Given the description of an element on the screen output the (x, y) to click on. 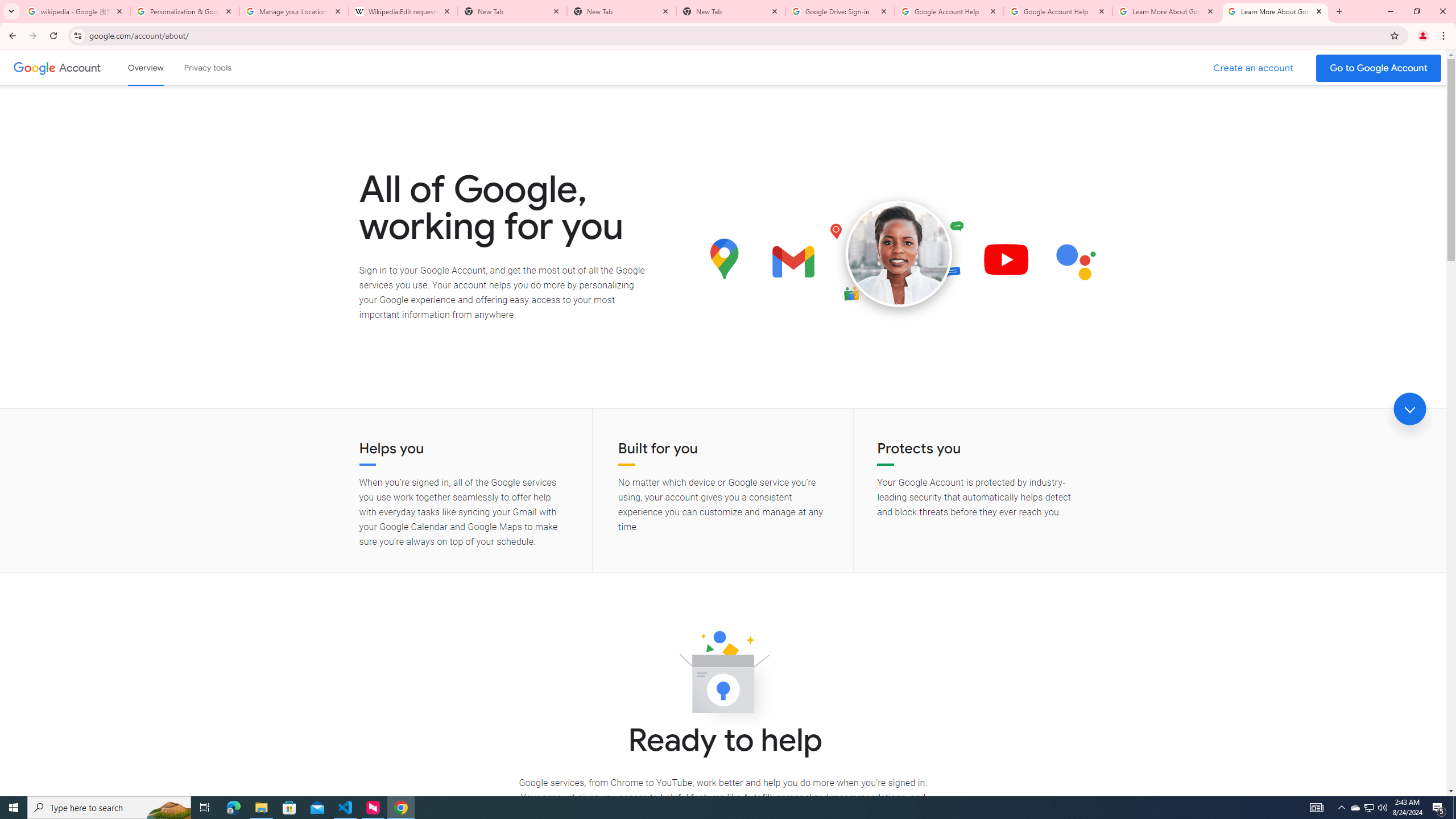
Ready to help (722, 675)
Skip to Content (162, 65)
Google Account Help (1058, 11)
New Tab (730, 11)
Create a Google Account (1253, 67)
Jump link (1409, 408)
Privacy tools (207, 67)
Wikipedia:Edit requests - Wikipedia (403, 11)
